Given the description of an element on the screen output the (x, y) to click on. 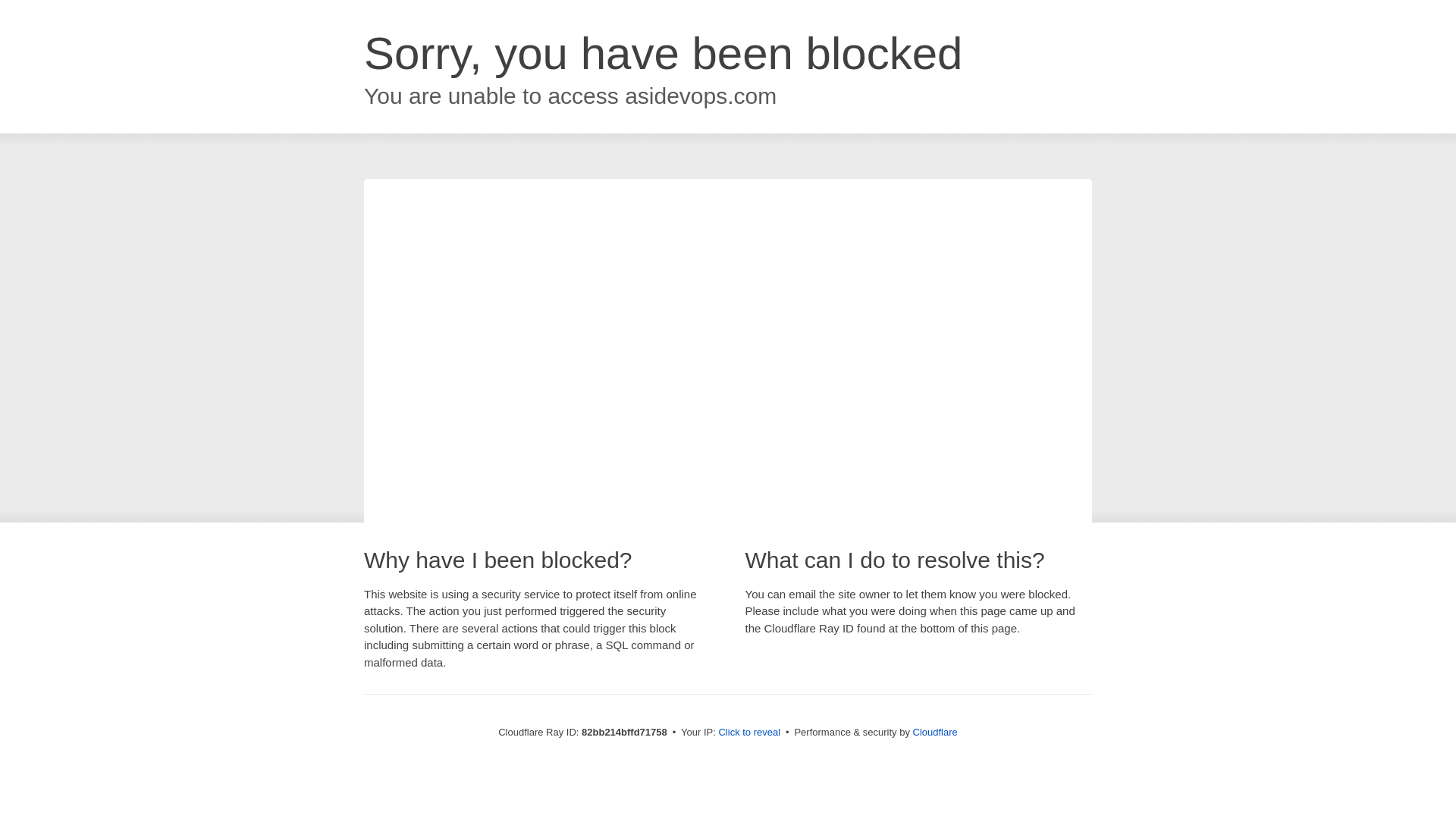
Cloudflare Element type: text (935, 731)
Click to reveal Element type: text (749, 732)
